Given the description of an element on the screen output the (x, y) to click on. 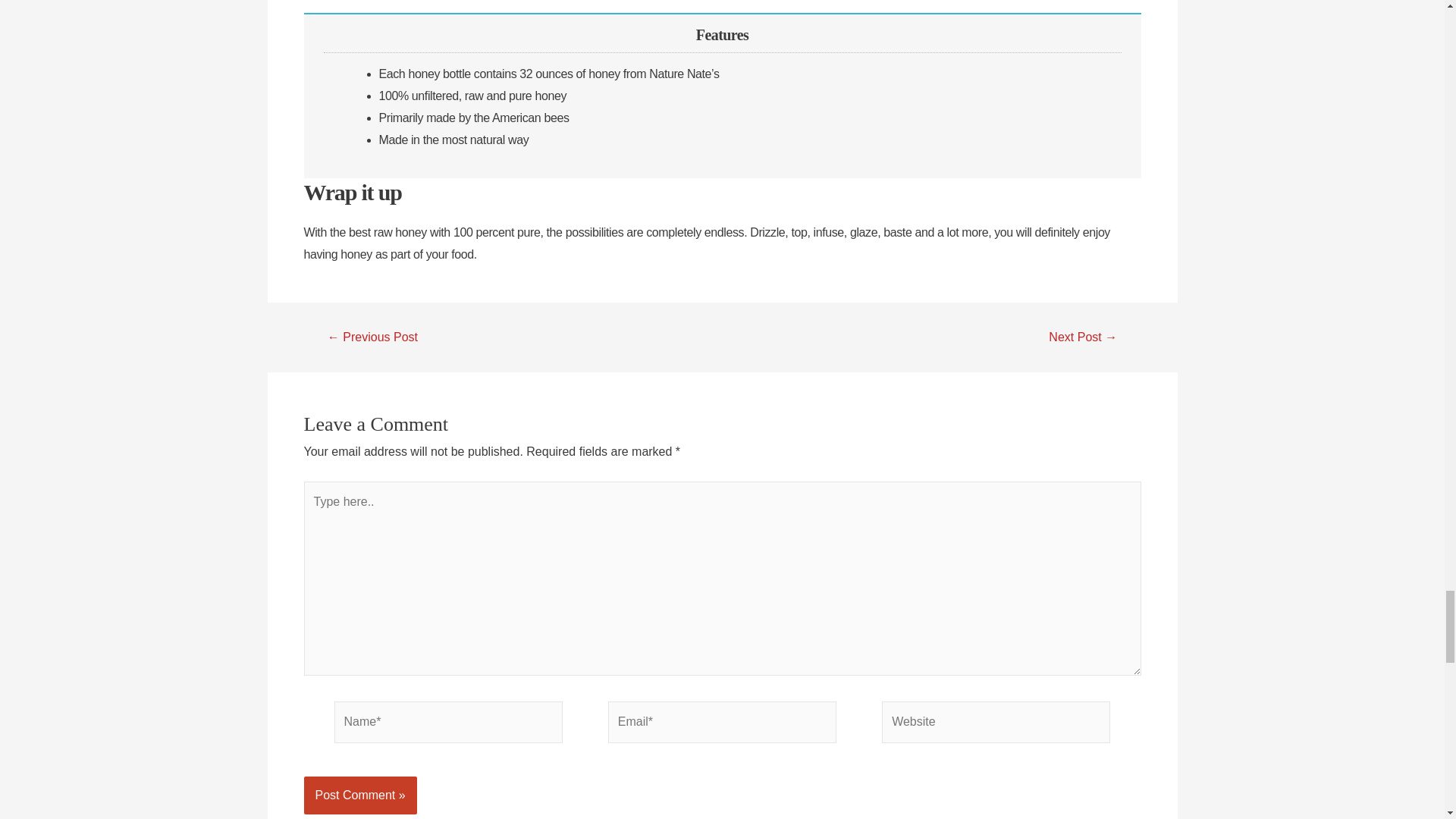
10 Best Ukulele Hardshell Cases in 2021 (371, 337)
Best Organic Milk Boxes For Toddlers In 2021 (1082, 337)
